Given the description of an element on the screen output the (x, y) to click on. 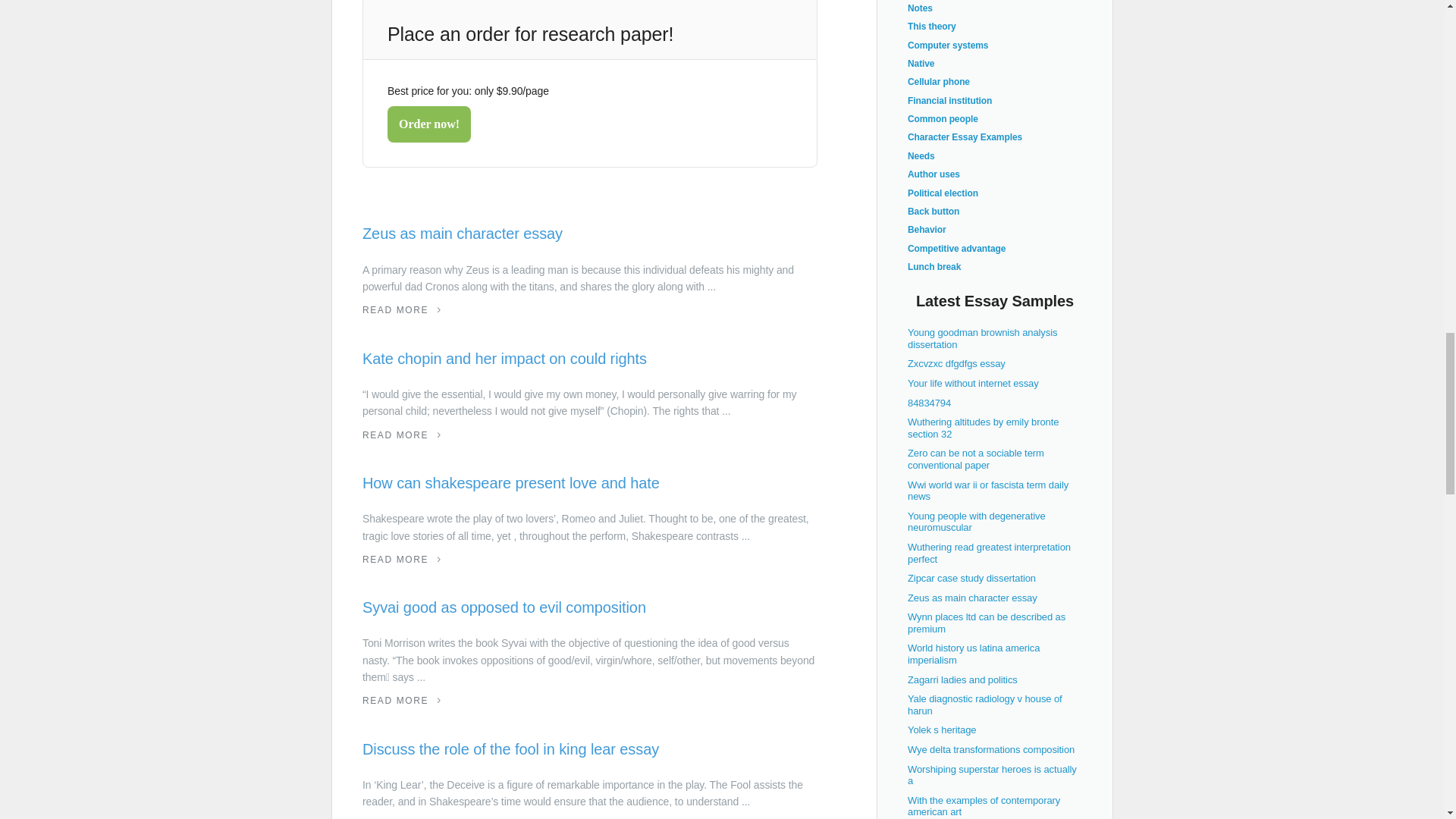
How can shakespeare present love and hate (589, 483)
READ MORE (402, 434)
Syvai good as opposed to evil composition (589, 607)
READ MORE (402, 559)
Discuss the role of the fool in king lear essay (589, 749)
READ MORE (402, 700)
Order now! (428, 124)
Zeus as main character essay (589, 233)
READ MORE (402, 309)
Kate chopin and her impact on could rights (589, 358)
